Given the description of an element on the screen output the (x, y) to click on. 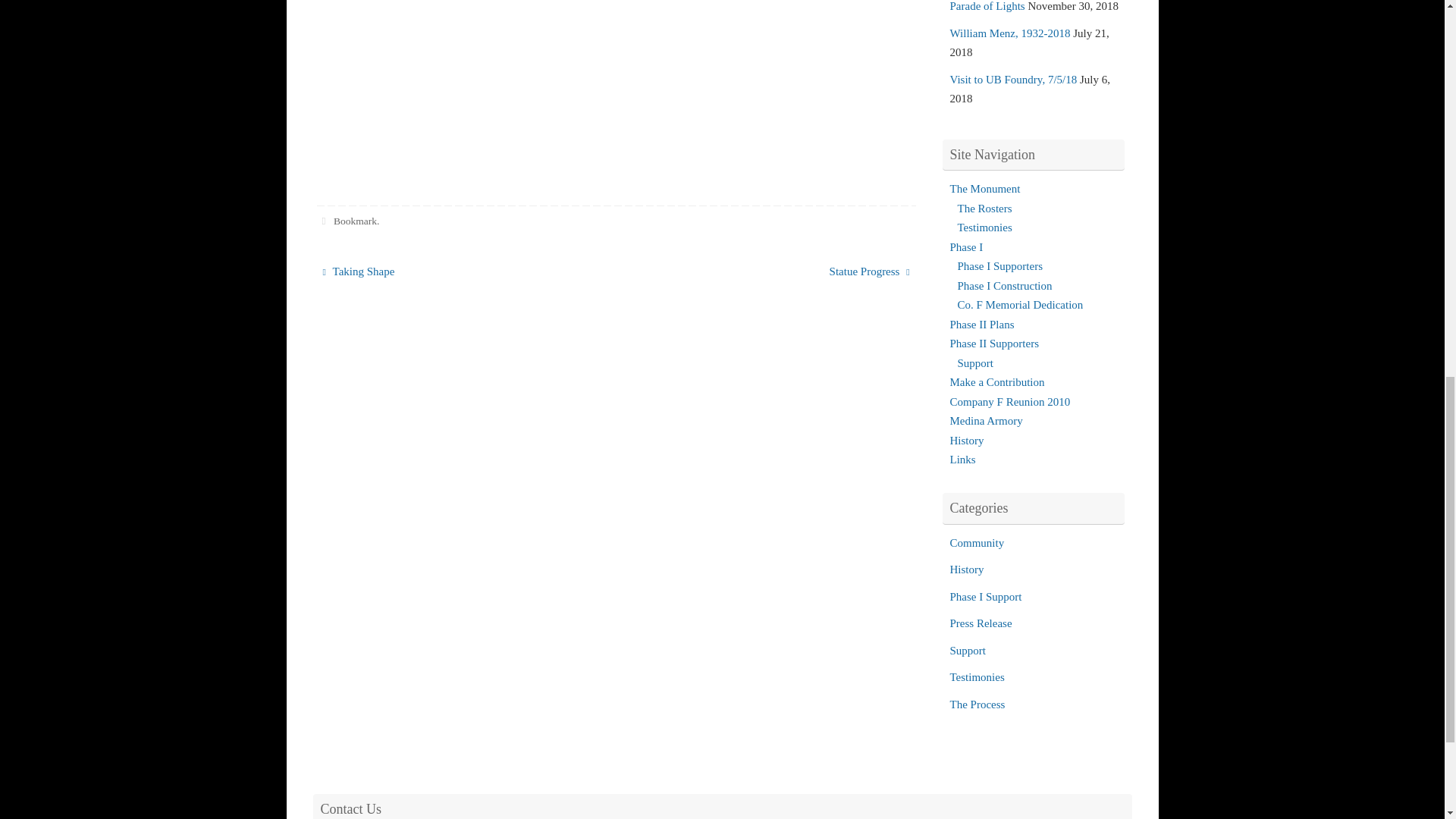
Bookmark (355, 220)
Permalink to Company F Display at the YMCA (355, 220)
Statue Progress (774, 271)
 Bookmark the permalink (324, 220)
Taking Shape (457, 271)
